Given the description of an element on the screen output the (x, y) to click on. 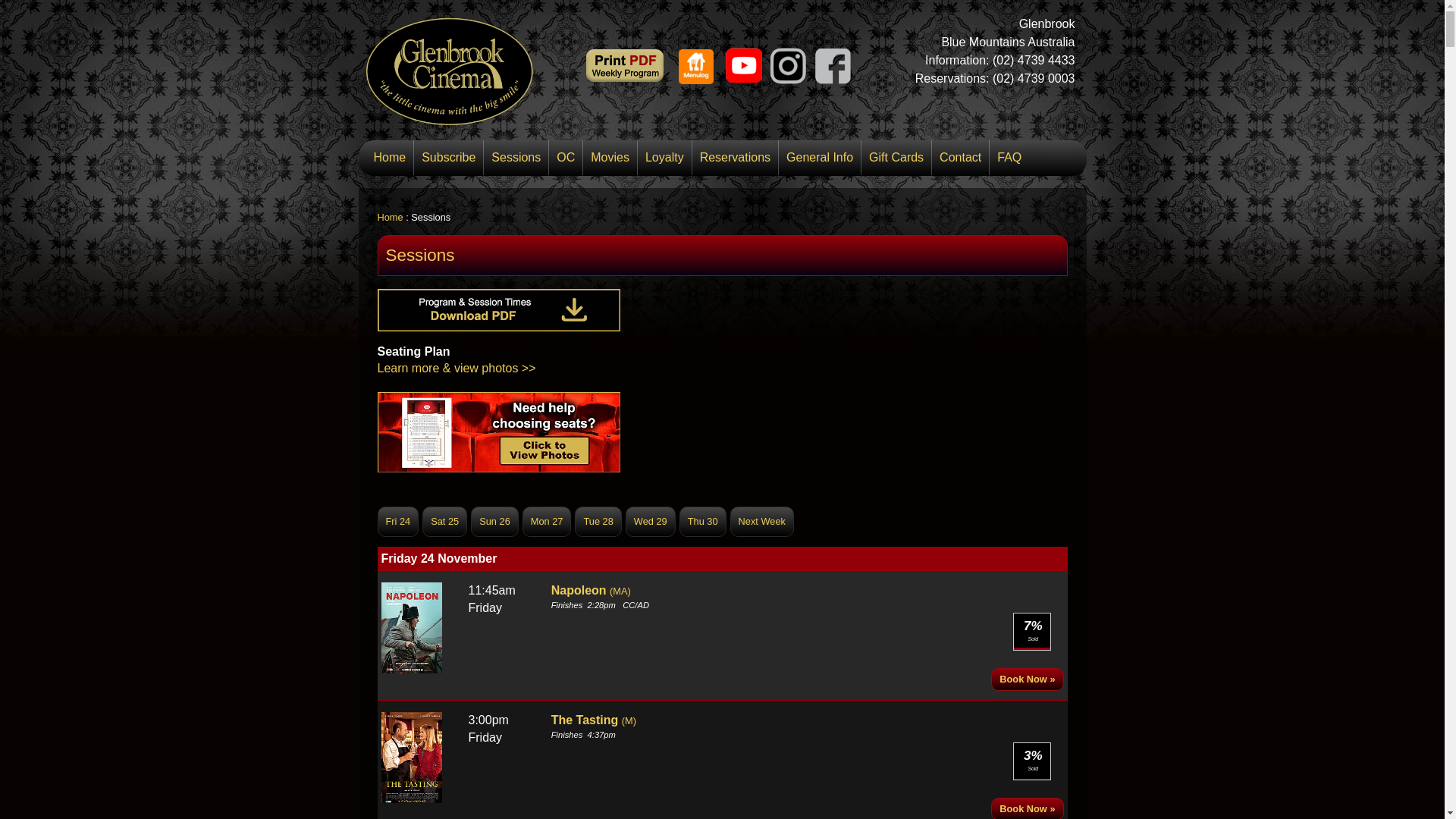
The Tasting (M) Element type: text (593, 719)
Loyalty Element type: text (664, 156)
Napoleon (MA) Element type: text (590, 589)
Subscribe Element type: text (448, 156)
Sat 25 Element type: text (444, 521)
OC Element type: text (565, 156)
Wed 29 Element type: text (650, 521)
Sessions Element type: text (515, 156)
Fri 24 Element type: text (398, 521)
Reservations Element type: text (735, 156)
Mon 27 Element type: text (546, 521)
Learn more & view photos >> Element type: text (456, 367)
General Info Element type: text (819, 156)
FAQ Element type: text (1009, 156)
Home Element type: text (389, 156)
Thu 30 Element type: text (702, 521)
Home Element type: text (390, 216)
Sun 26 Element type: text (494, 521)
Tue 28 Element type: text (597, 521)
Contact Element type: text (959, 156)
Next Week Element type: text (761, 521)
Gift Cards Element type: text (896, 156)
Movies Element type: text (610, 156)
